Given the description of an element on the screen output the (x, y) to click on. 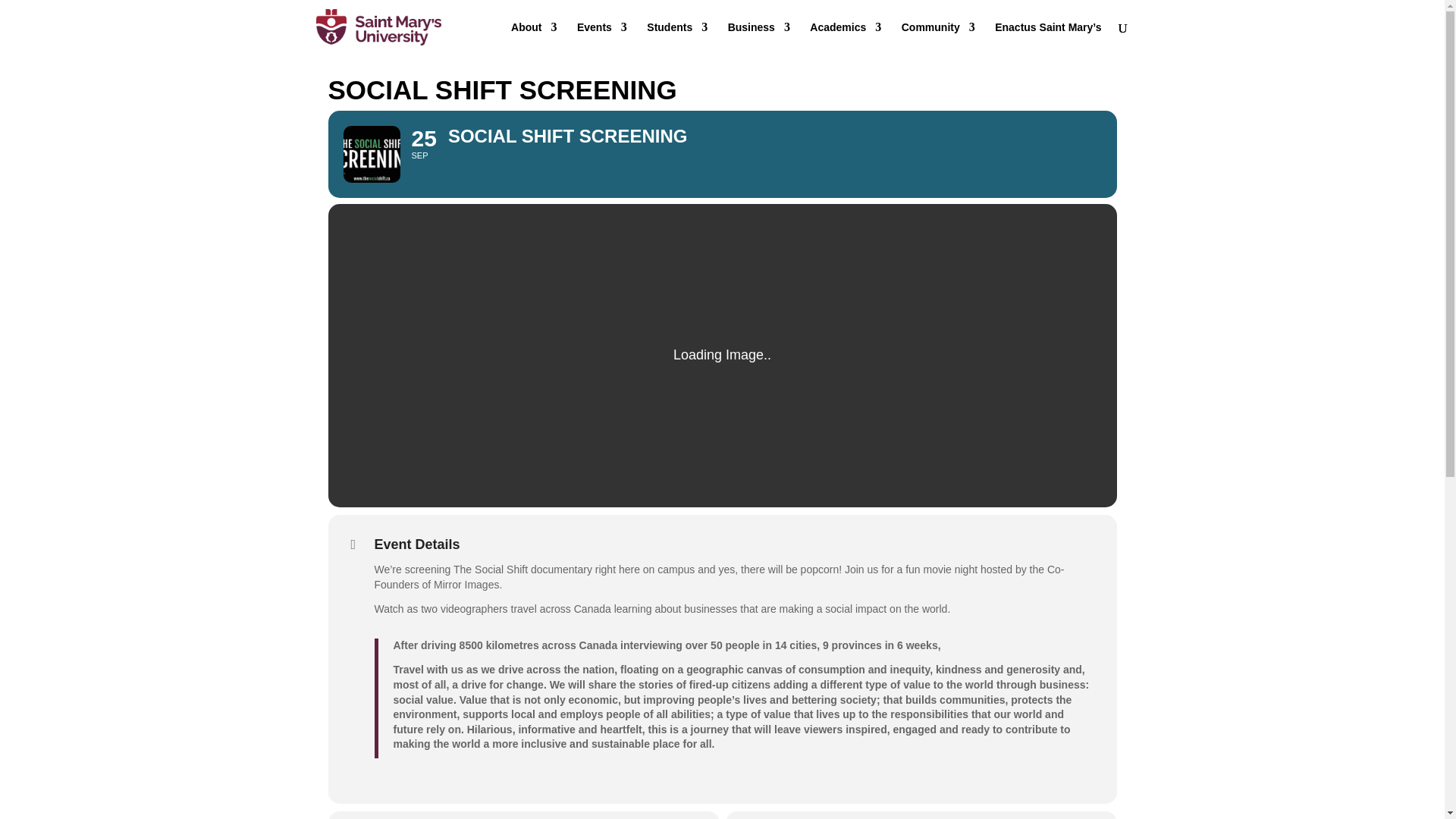
Community (938, 38)
Students (676, 38)
Academics (844, 38)
About (533, 38)
Business (759, 38)
Events (601, 38)
